Given the description of an element on the screen output the (x, y) to click on. 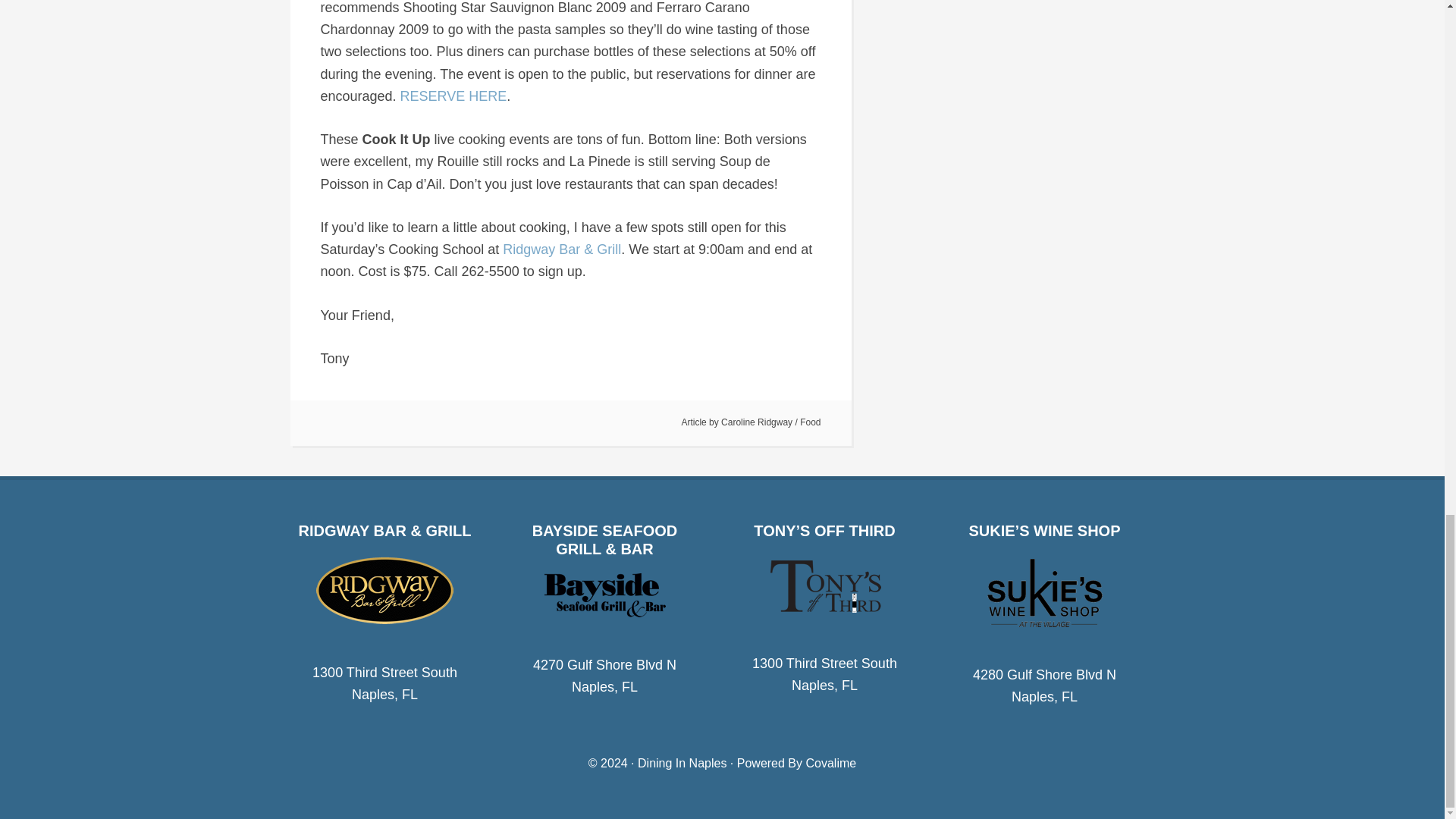
Dining In Naples (681, 762)
Caroline Ridgway (756, 421)
RESERVE HERE (453, 96)
Covalime (830, 762)
Food (810, 421)
Covalime (830, 762)
